Given the description of an element on the screen output the (x, y) to click on. 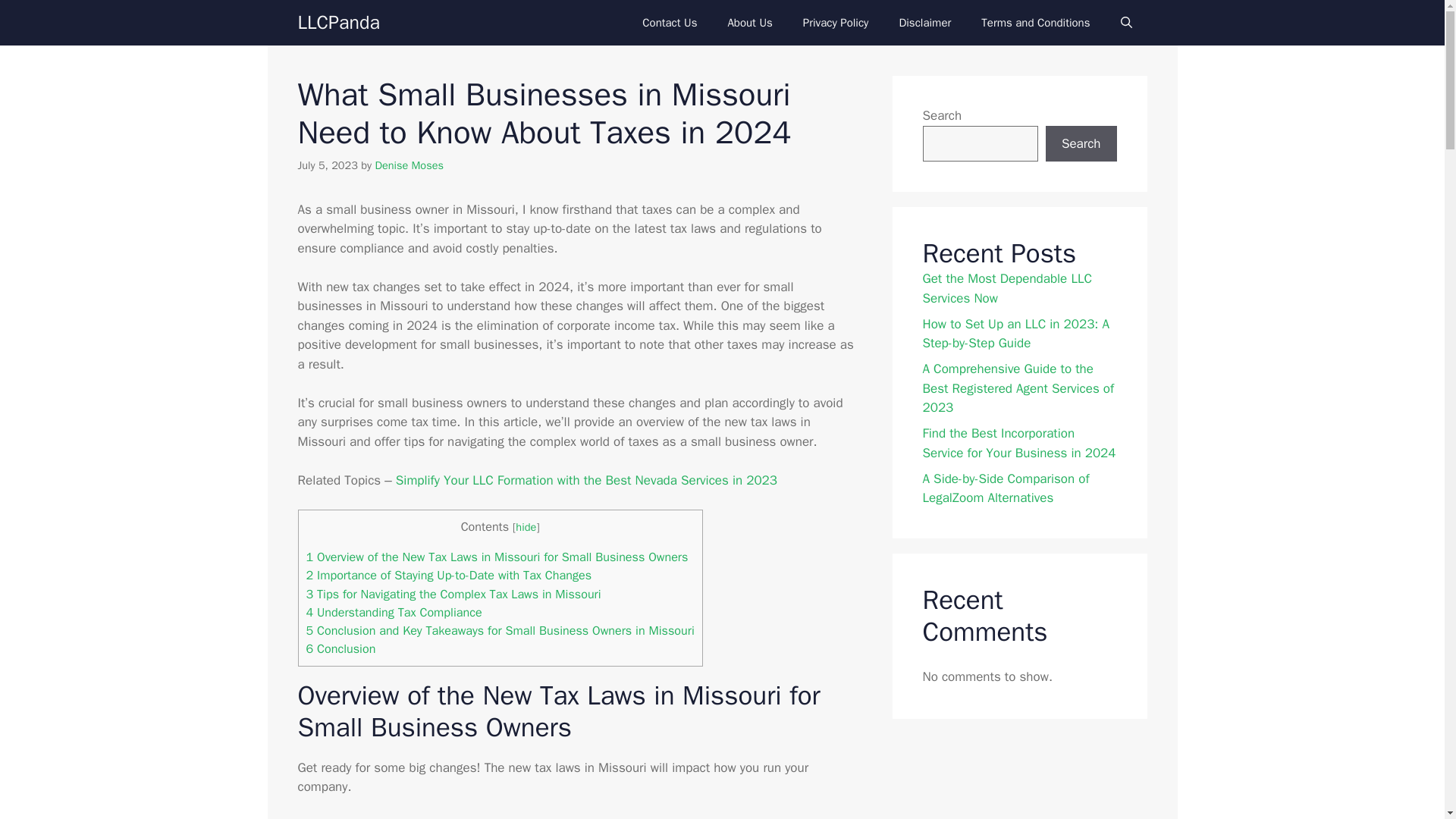
2 Importance of Staying Up-to-Date with Tax Changes (448, 575)
Disclaimer (924, 22)
Contact Us (669, 22)
Terms and Conditions (1035, 22)
hide (525, 526)
Denise Moses (409, 164)
LLCPanda (337, 22)
6 Conclusion (340, 648)
